Given the description of an element on the screen output the (x, y) to click on. 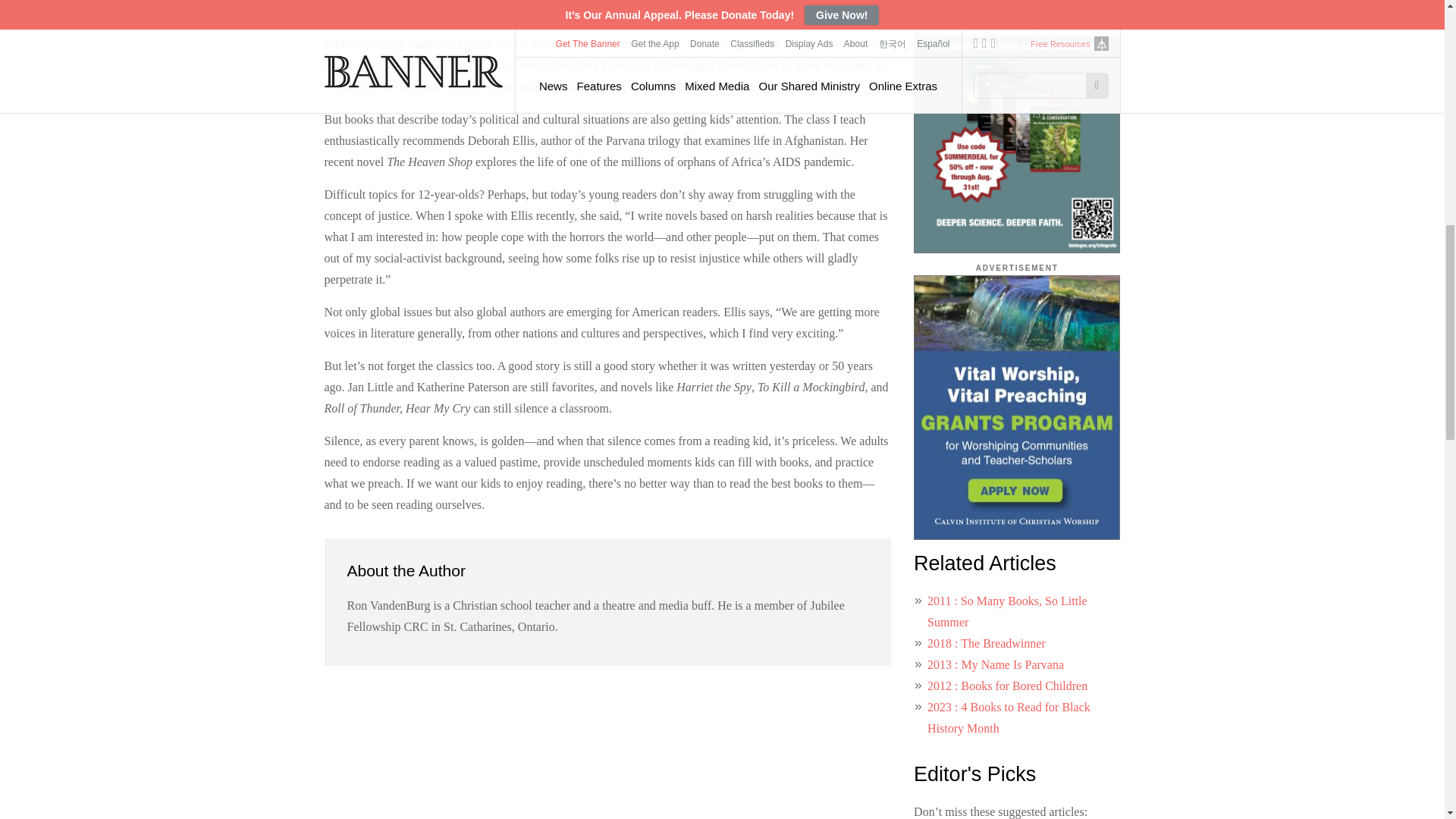
2023 : 4 Books to Read for Black History Month (1008, 717)
2018 : The Breadwinner (986, 643)
2012 : Books for Bored Children (1007, 685)
2011 : So Many Books, So Little Summer (1007, 611)
2013 : My Name Is Parvana (995, 664)
